Given the description of an element on the screen output the (x, y) to click on. 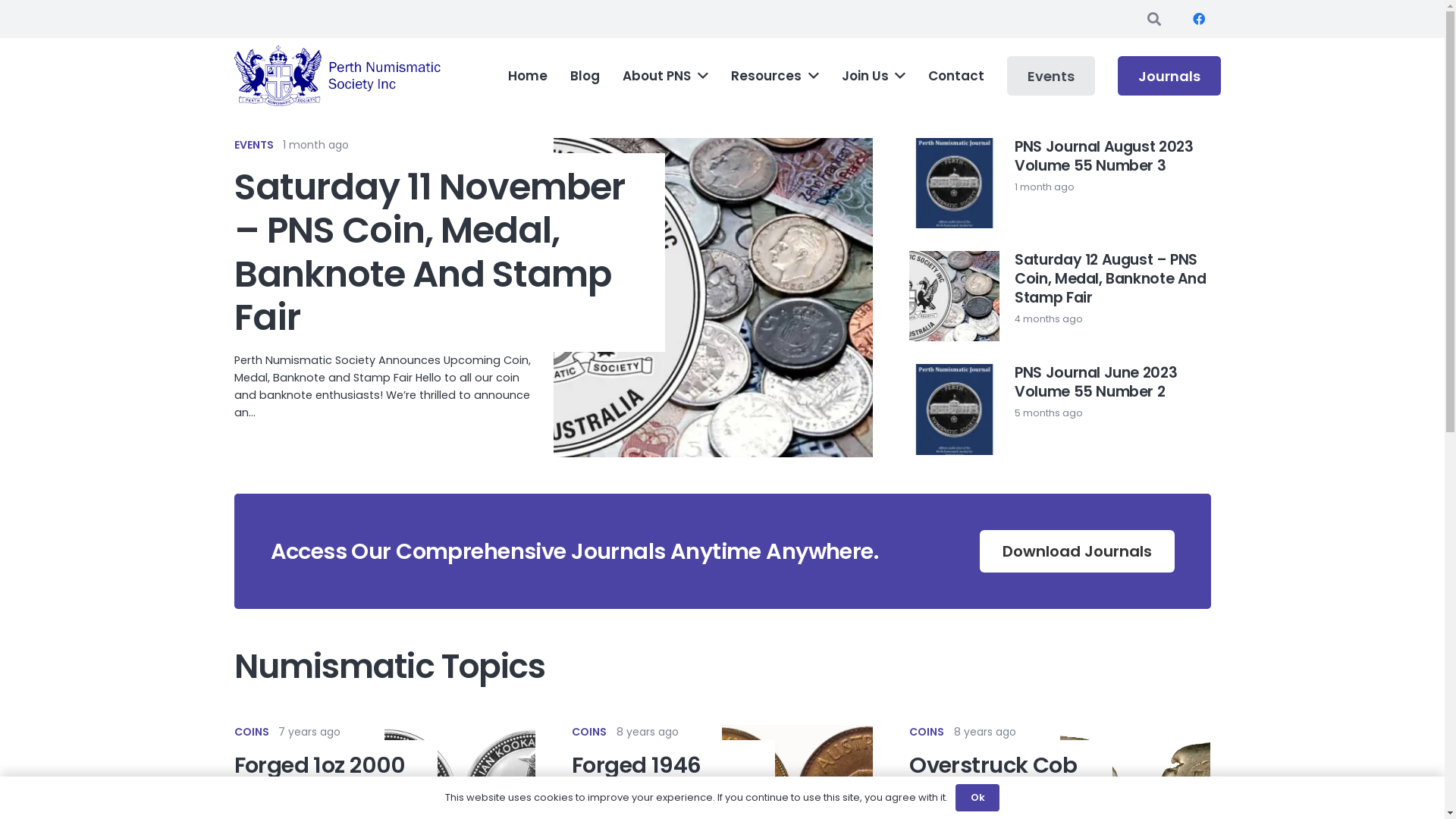
About PNS Element type: text (665, 75)
COINS Element type: text (250, 731)
Resources Element type: text (774, 75)
Home Element type: text (527, 75)
PNS Journal August 2023 Volume 55 Number 3 Element type: text (1103, 155)
Forged 1oz 2000 Kookaburra Element type: text (318, 777)
Forged 1946 Australia Penny Element type: text (656, 777)
COINS Element type: text (926, 731)
Download Journals Element type: text (1076, 551)
Facebook Element type: hover (1198, 18)
EVENTS Element type: text (253, 144)
Overstruck Cob Of El Salvador Element type: text (992, 777)
COINS Element type: text (588, 731)
Join Us Element type: text (872, 75)
PNS Journal June 2023 Volume 55 Number 2 Element type: text (1095, 381)
Ok Element type: text (977, 797)
Events Element type: text (1051, 75)
Contact Element type: text (955, 75)
Blog Element type: text (584, 75)
Journals Element type: text (1168, 75)
